Given the description of an element on the screen output the (x, y) to click on. 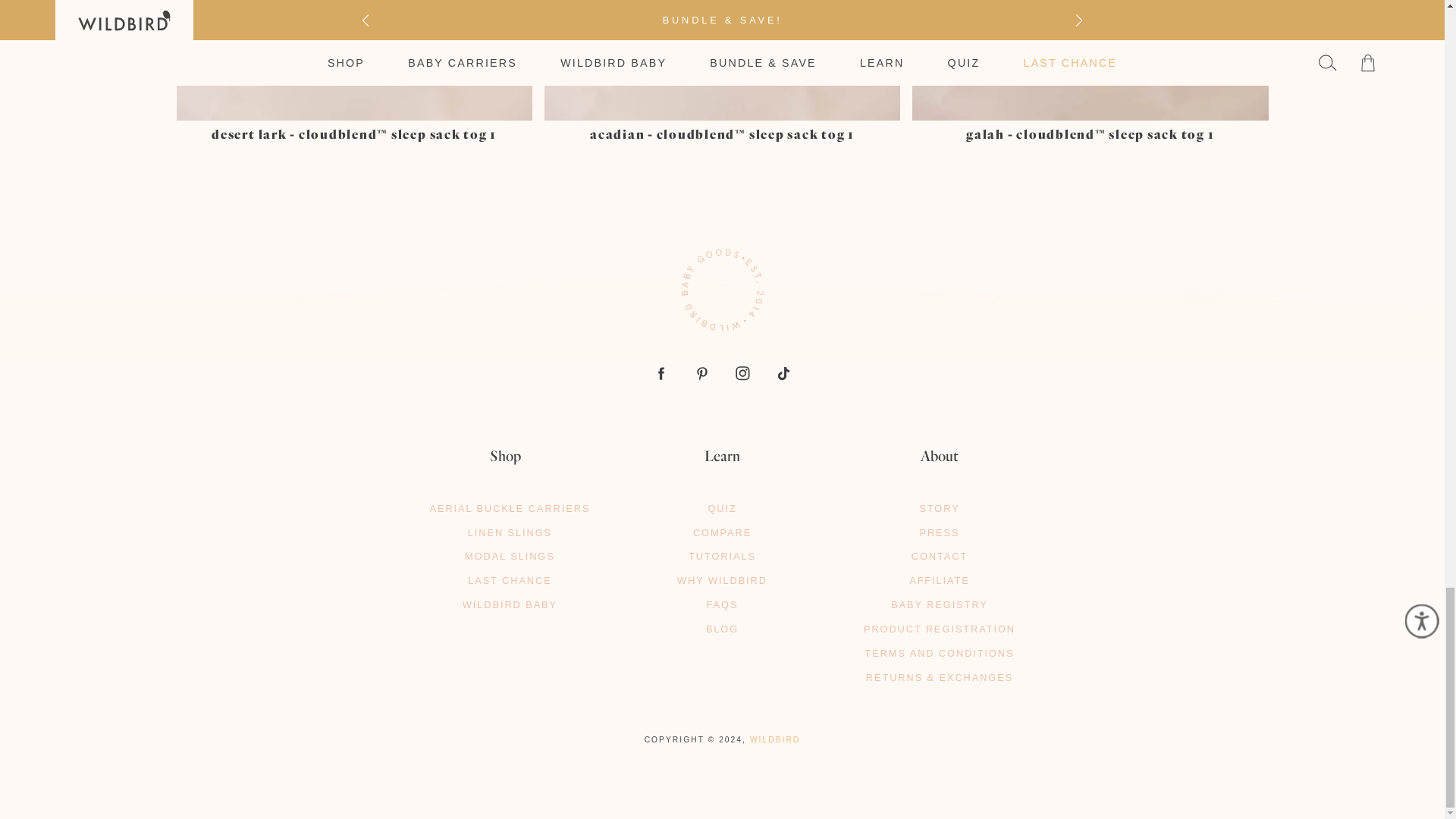
WildBird on Facebook (659, 372)
WildBird on TikTok (783, 372)
WildBird on Instagram (742, 372)
WildBird on Pinterest (702, 372)
